Given the description of an element on the screen output the (x, y) to click on. 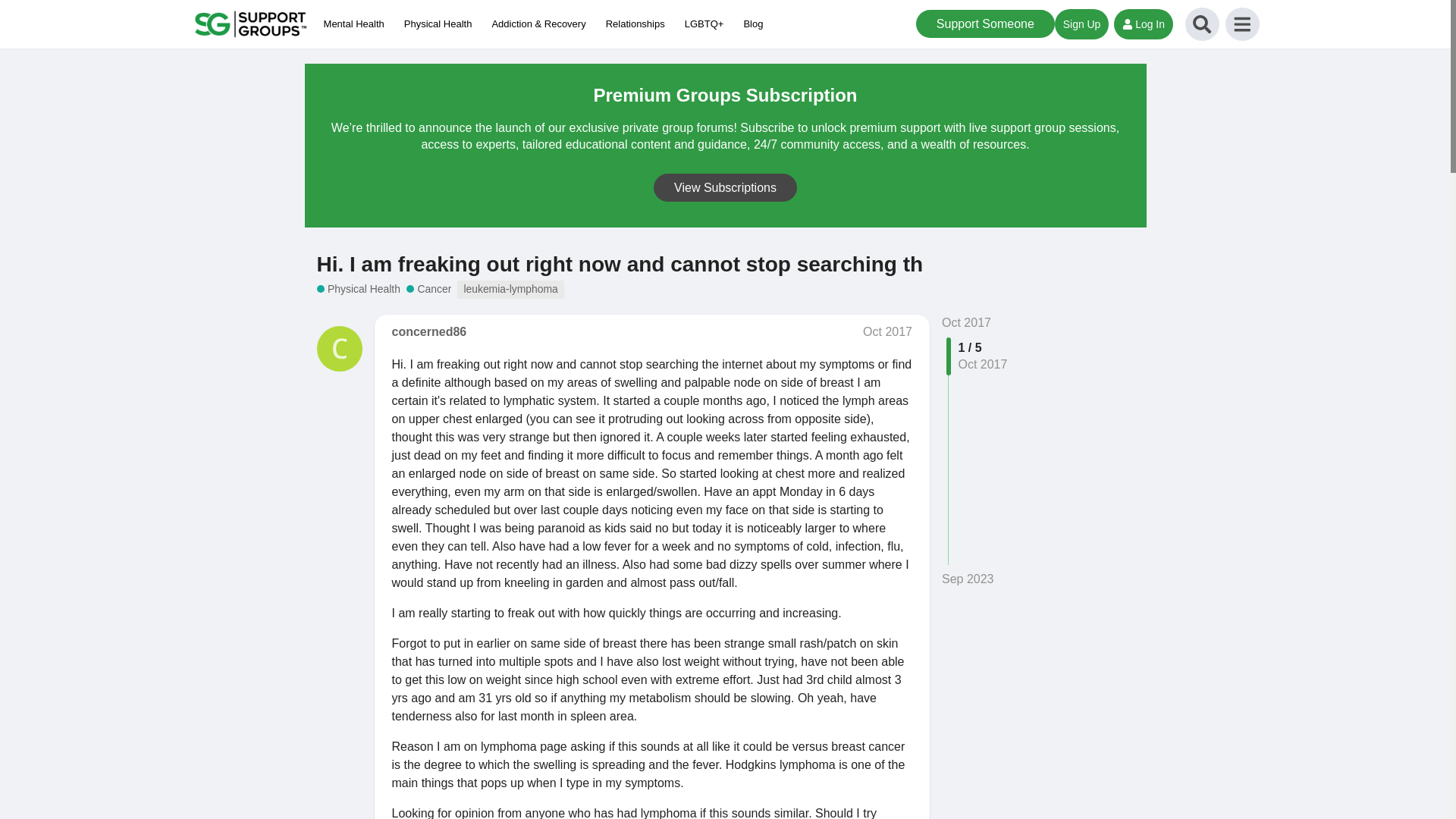
Cancer (428, 288)
Mental Health (357, 23)
Sep 2023 (968, 579)
concerned86 (428, 331)
Log In (1143, 24)
leukemia-lymphoma (510, 289)
Oct 2017 (887, 331)
Sign Up (1081, 24)
Physical Health (358, 288)
Hi. I am freaking out right now and cannot stop searching th (620, 264)
Oct 2017 (966, 322)
Support Someone (984, 23)
View Subscriptions (724, 187)
